Given the description of an element on the screen output the (x, y) to click on. 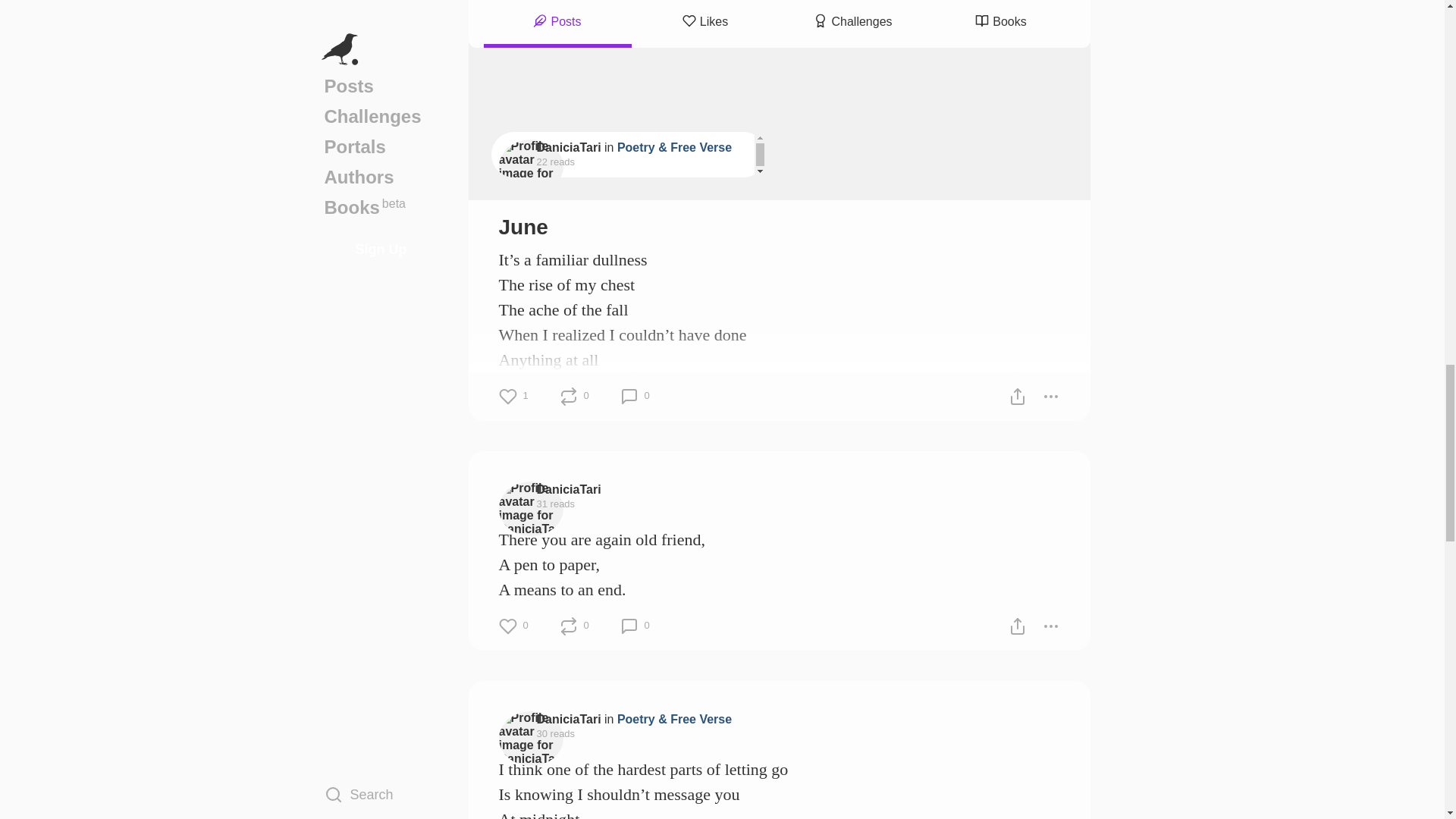
DaniciaTari (569, 146)
